Given the description of an element on the screen output the (x, y) to click on. 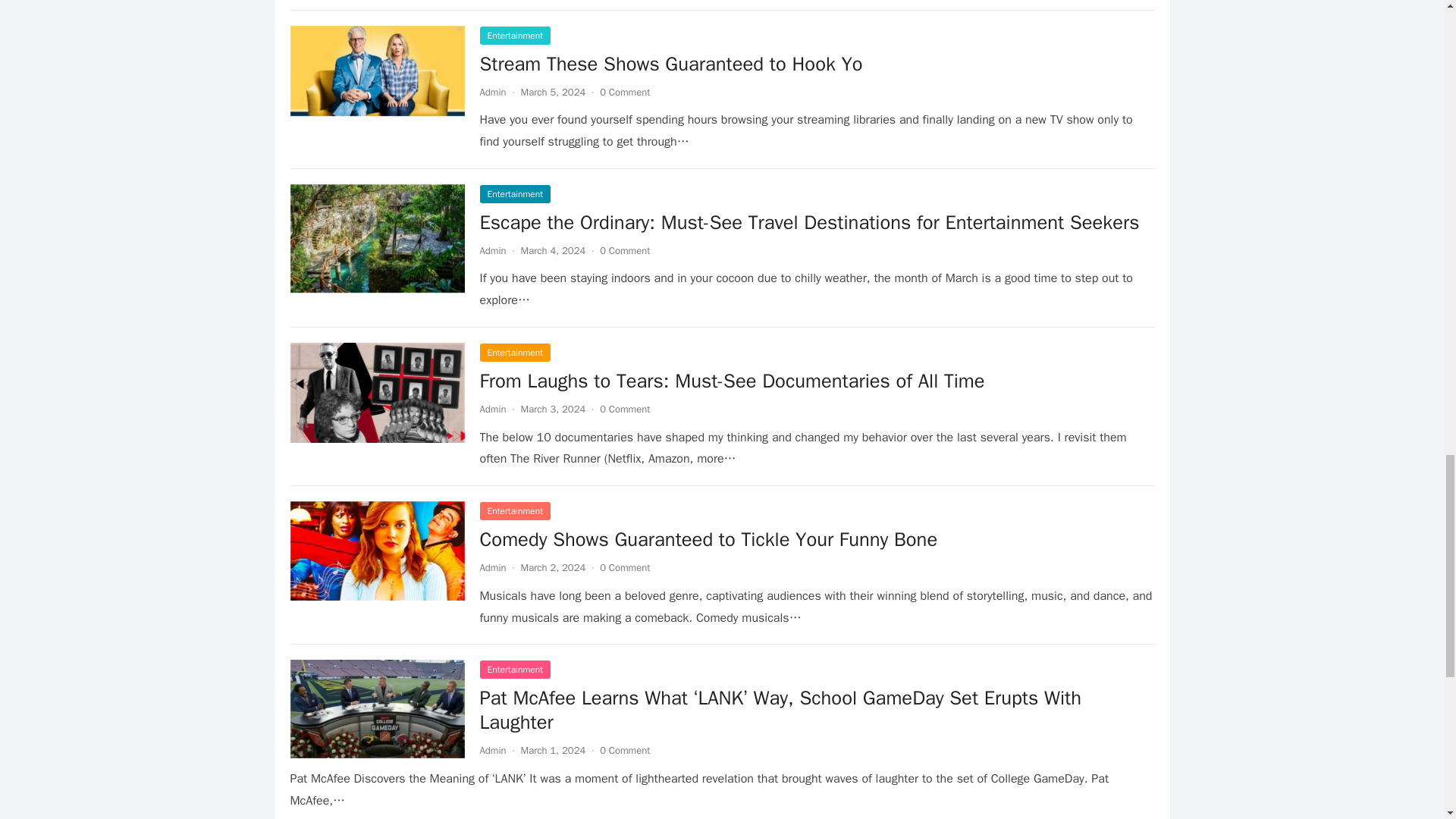
Posts by Admin (492, 408)
Entertainment (514, 194)
0 Comment (624, 91)
0 Comment (624, 250)
Posts by Admin (492, 91)
From Laughs to Tears: Must-See Documentaries of All Time (731, 380)
Entertainment (514, 352)
Posts by Admin (492, 250)
Stream These Shows Guaranteed to Hook Yo (670, 63)
Entertainment (514, 511)
